Given the description of an element on the screen output the (x, y) to click on. 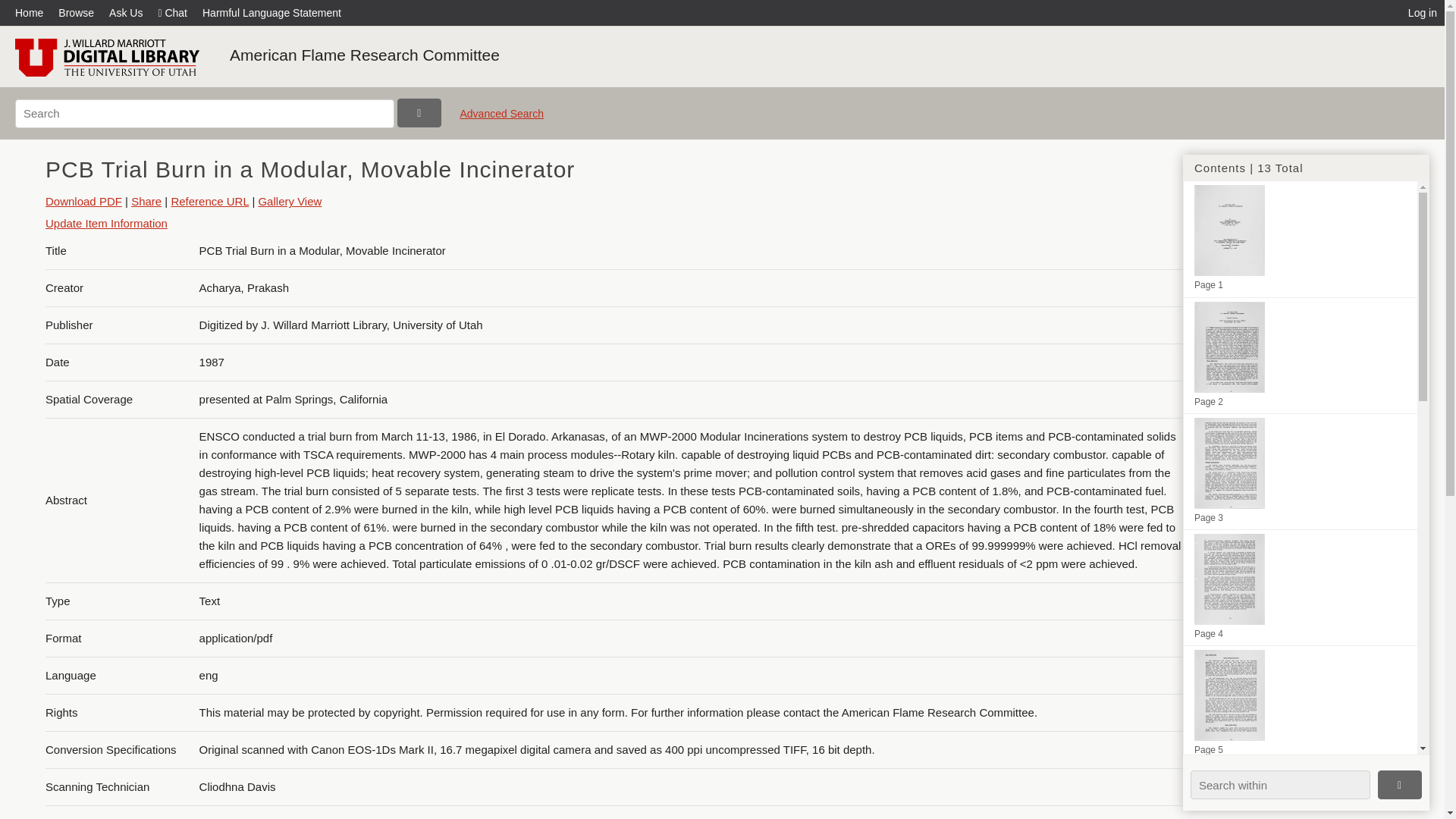
Download PDF (83, 201)
Page 6 (1299, 790)
Reference URL (209, 201)
Gallery View (289, 201)
Advanced Search (501, 119)
Browse (75, 12)
Harmful Language Statement (272, 12)
Gallery View (289, 201)
Chat (172, 12)
Home (32, 12)
Page 1 (1299, 238)
Update Item Information (106, 223)
Ask Us (125, 12)
Reference URL (209, 201)
Page 5 (1299, 703)
